Given the description of an element on the screen output the (x, y) to click on. 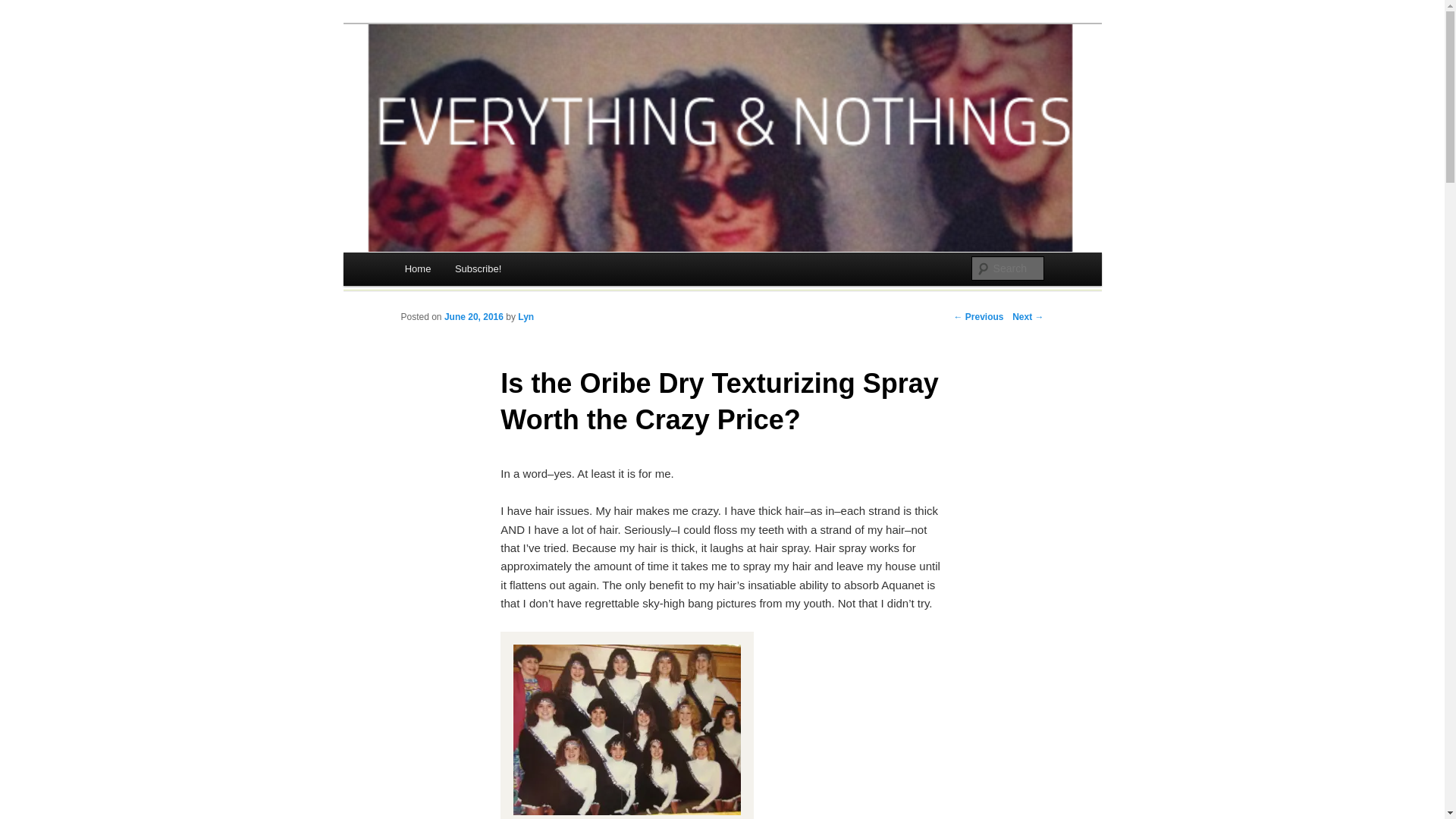
June 20, 2016 (473, 317)
Everything and Nothings (534, 82)
Subscribe! (477, 268)
Home (417, 268)
Lyn (526, 317)
View all posts by Lyn (526, 317)
Search (24, 8)
Everything and Nothings (534, 82)
